Given the description of an element on the screen output the (x, y) to click on. 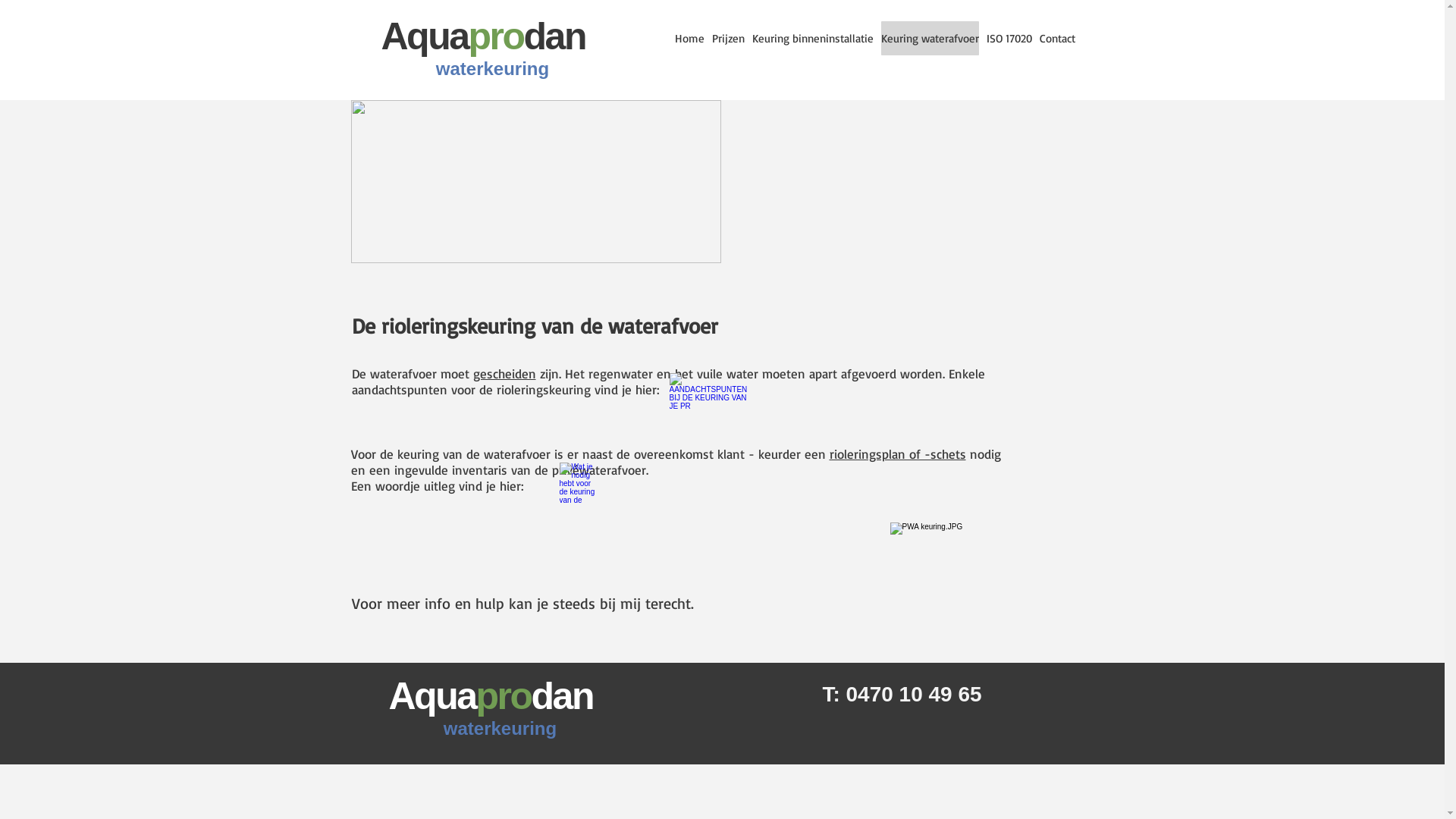
Aquaprodan Element type: text (482, 36)
Keuring binneninstallatie Element type: text (812, 38)
AANDACHTSPUNTEN BIJ DE KEURING VAN JE PR Element type: hover (690, 411)
waterkeuring Element type: text (492, 68)
Aqua Element type: text (431, 695)
Prijzen Element type: text (727, 38)
dan Element type: text (562, 695)
ISO 17020 Element type: text (1008, 38)
Wat je nodig hebt voor de keuring van de Element type: hover (577, 505)
pro Element type: text (503, 695)
Contact Element type: text (1056, 38)
Home Element type: text (689, 38)
Keuring waterafvoer Element type: text (930, 38)
